Given the description of an element on the screen output the (x, y) to click on. 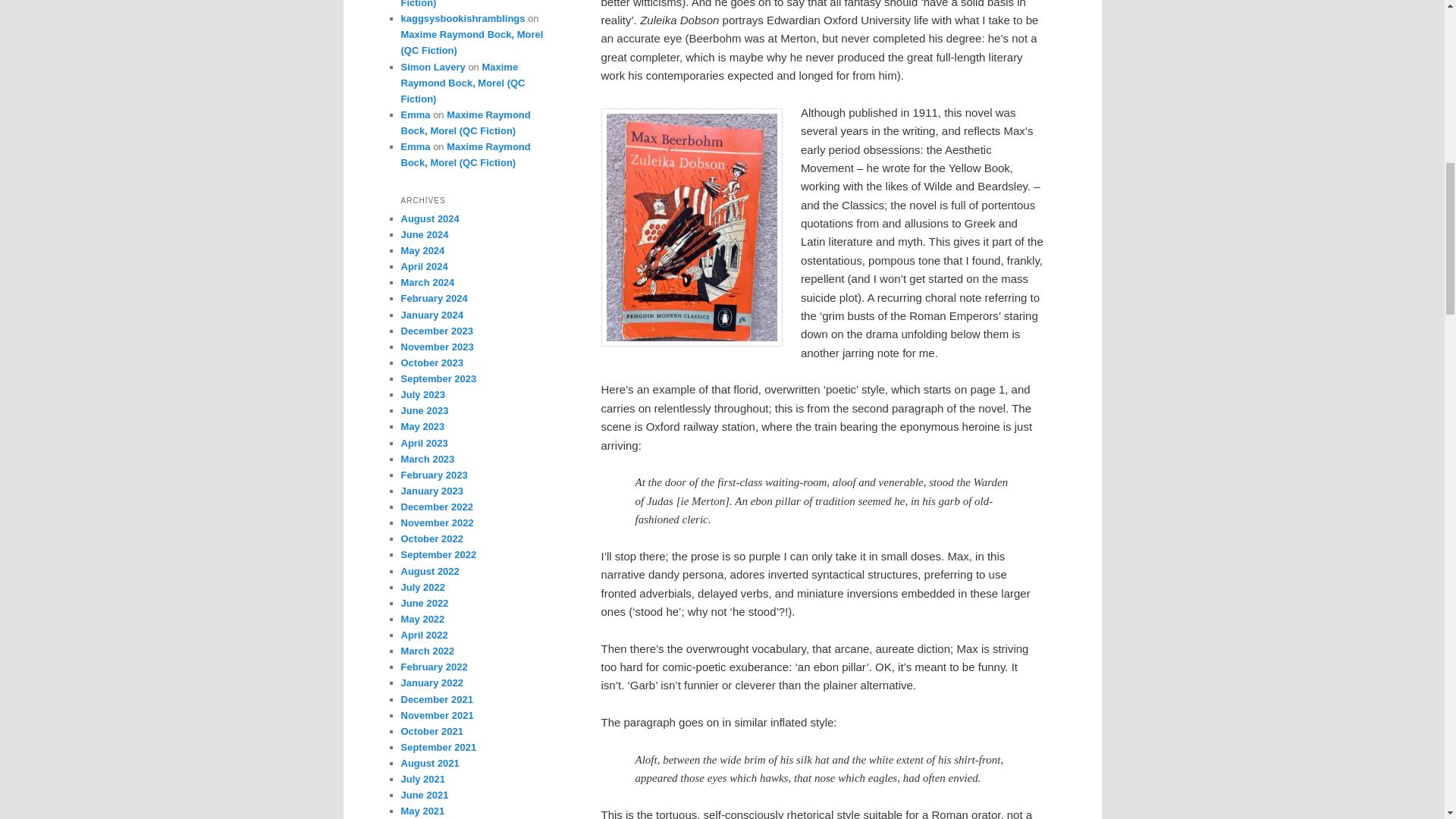
Emma (414, 114)
Simon Lavery (432, 66)
Emma (414, 146)
kaggsysbookishramblings (462, 18)
